Given the description of an element on the screen output the (x, y) to click on. 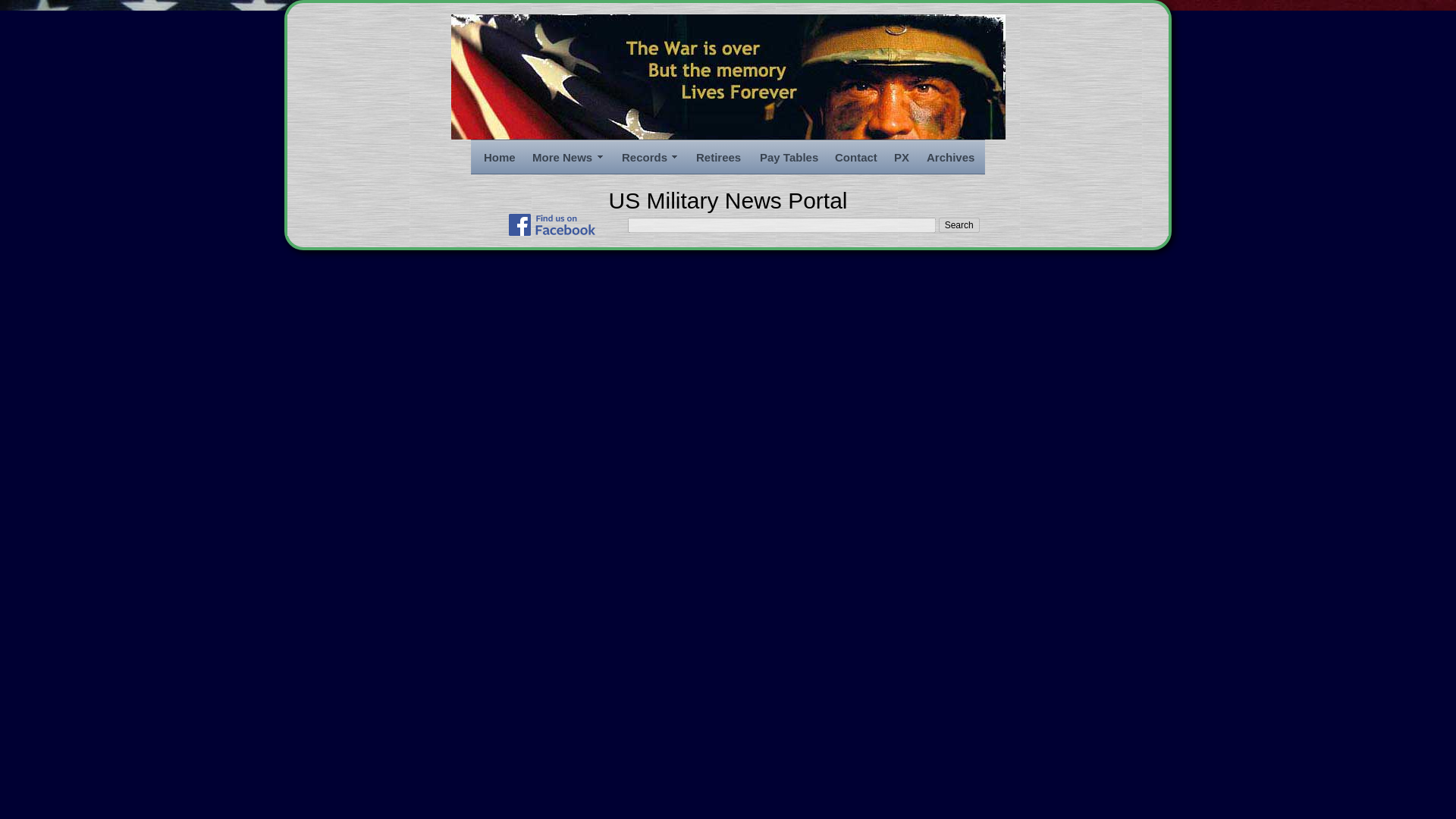
More News (566, 157)
Contact (854, 157)
Search (959, 224)
Records (648, 157)
Home (498, 157)
Pay Tables (788, 157)
PX (901, 157)
Retirees (718, 157)
Archives (949, 157)
